Given the description of an element on the screen output the (x, y) to click on. 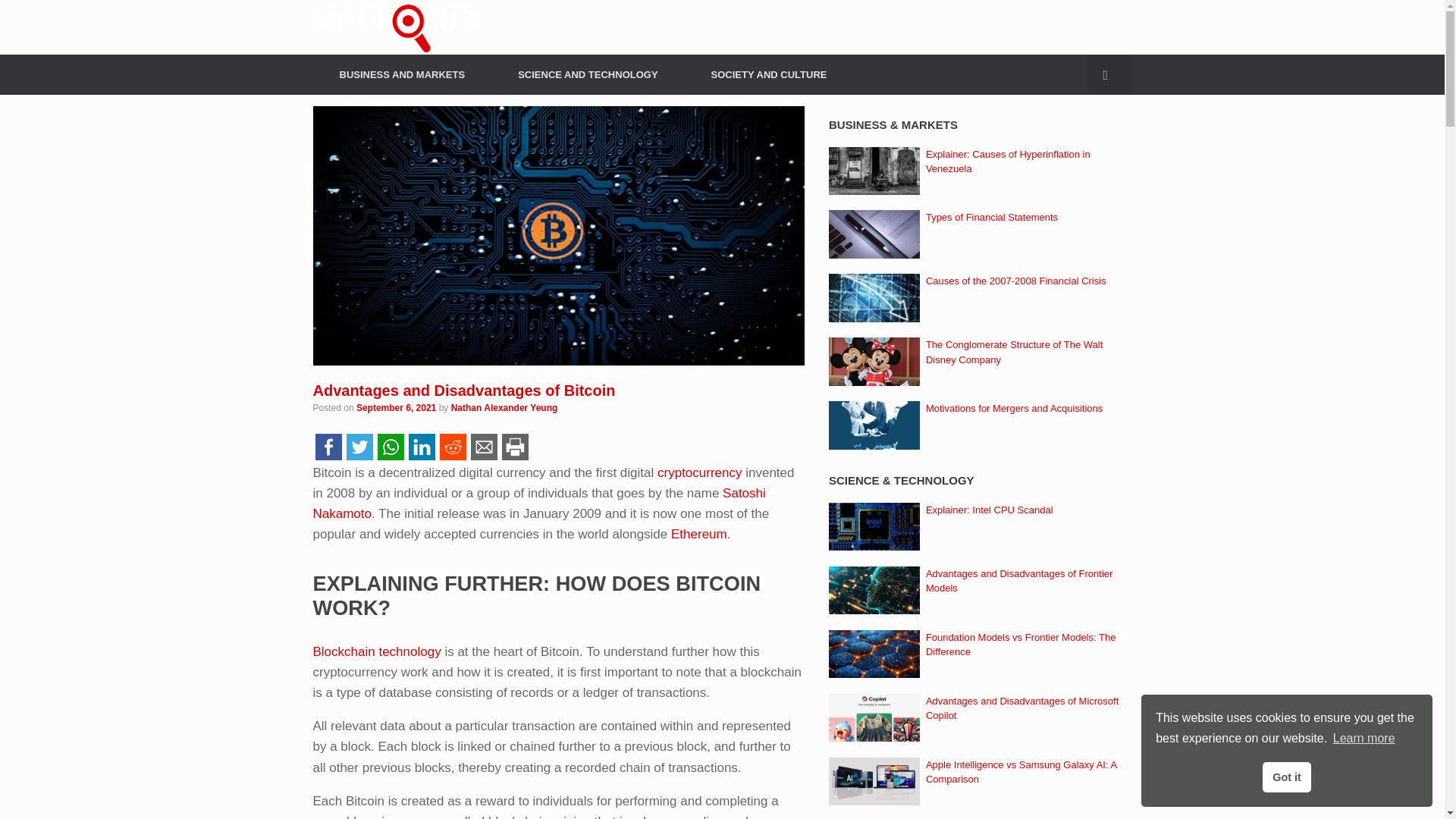
SOCIETY AND CULTURE (768, 74)
BUSINESS AND MARKETS (402, 74)
Blockchain technology (377, 651)
email (483, 445)
September 6, 2021 (395, 407)
whatsapp (390, 445)
Ethereum (698, 534)
View all posts by Nathan Alexander Yeung (504, 407)
facebook (328, 445)
Nathan Alexander Yeung (504, 407)
